Given the description of an element on the screen output the (x, y) to click on. 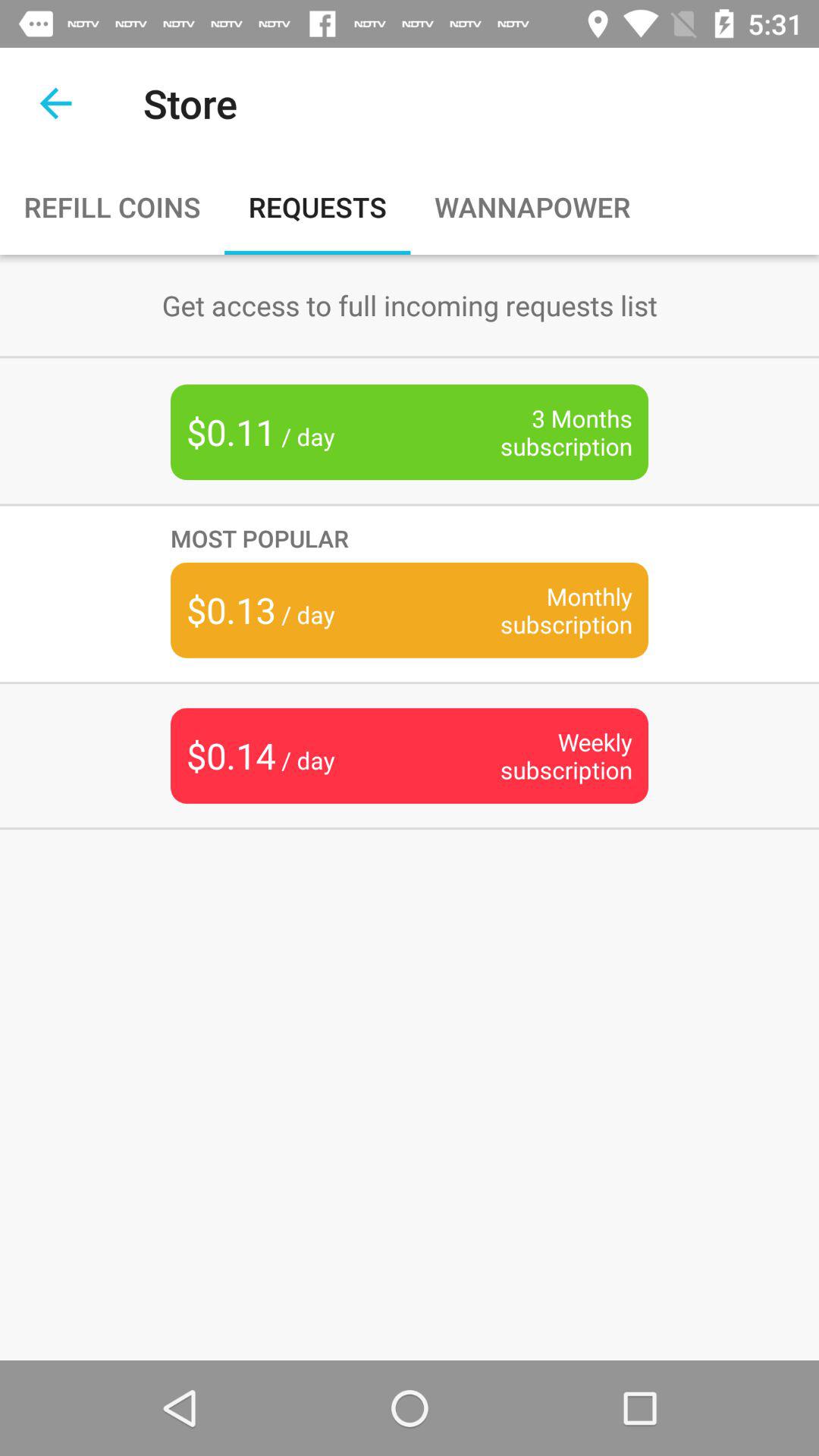
open icon above 3 months subscription item (409, 305)
